Given the description of an element on the screen output the (x, y) to click on. 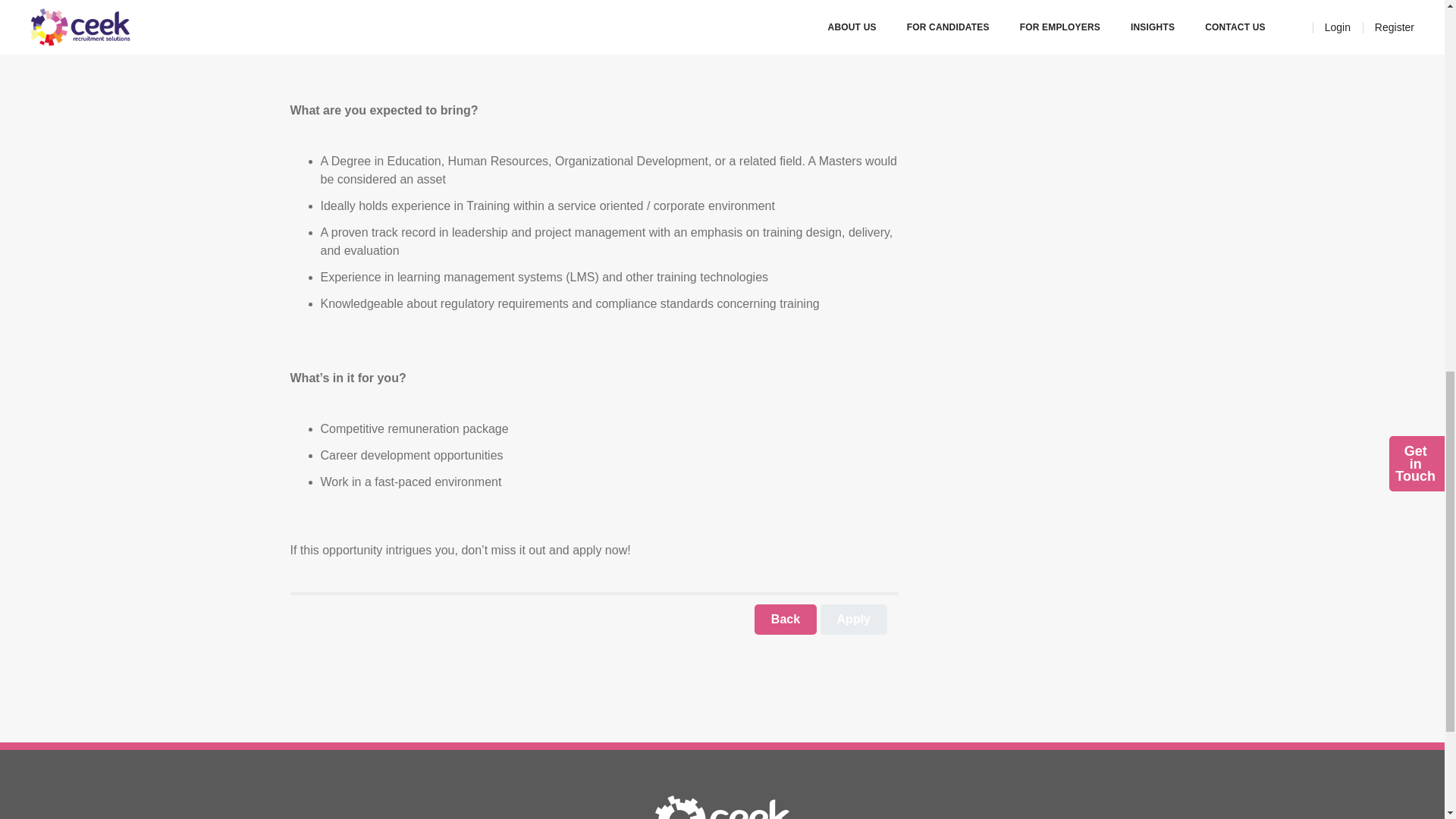
Back (785, 619)
Back (785, 619)
Apply (853, 619)
